Given the description of an element on the screen output the (x, y) to click on. 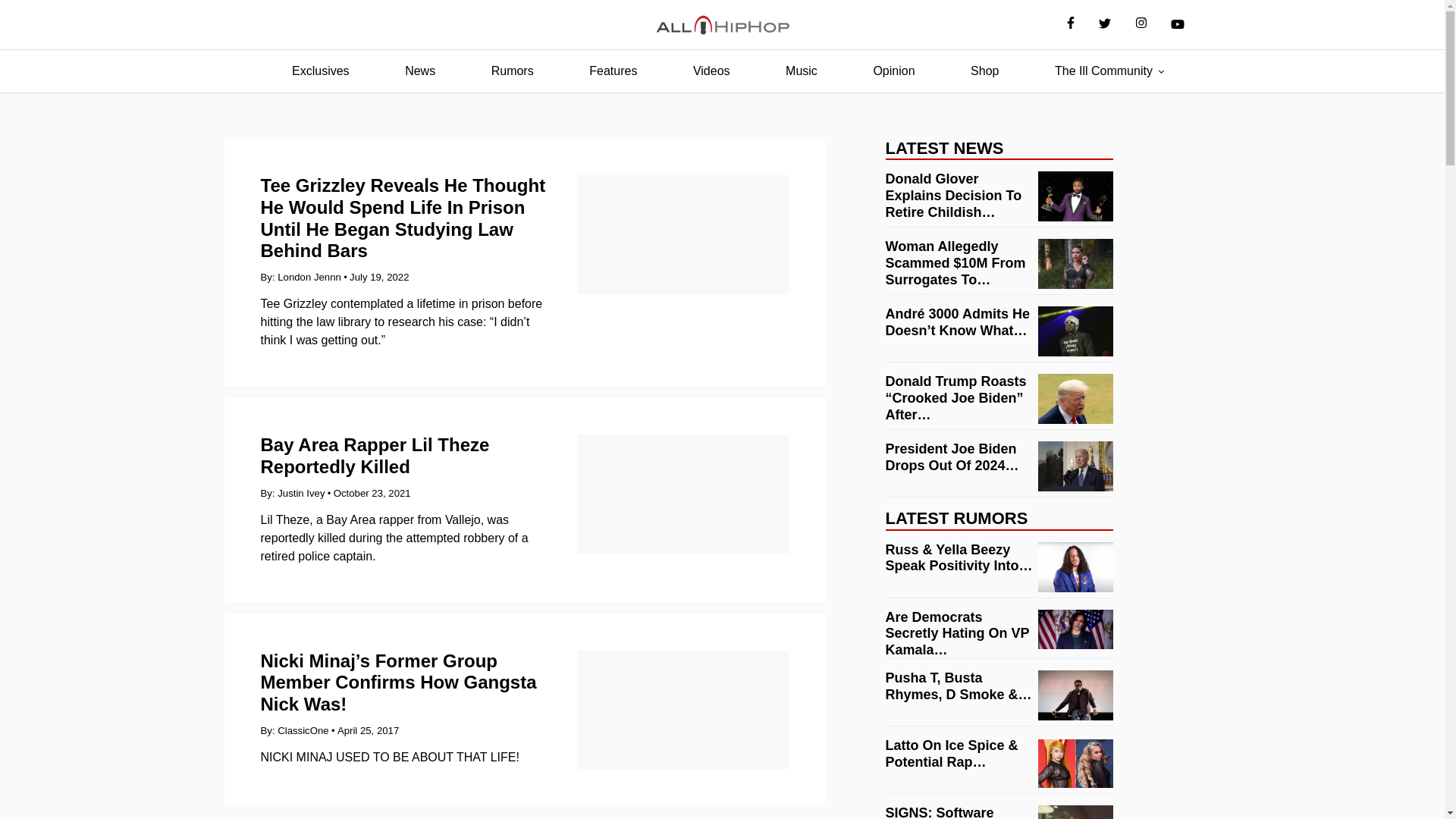
Videos (711, 70)
AllHipHop (722, 25)
Shop (984, 70)
News (419, 70)
Exclusives (320, 70)
Rumors (512, 70)
Features (612, 70)
July 19, 2022 (379, 276)
Music (801, 70)
Opinion (893, 70)
London Jennn (309, 276)
The Ill Community (1103, 70)
